Given the description of an element on the screen output the (x, y) to click on. 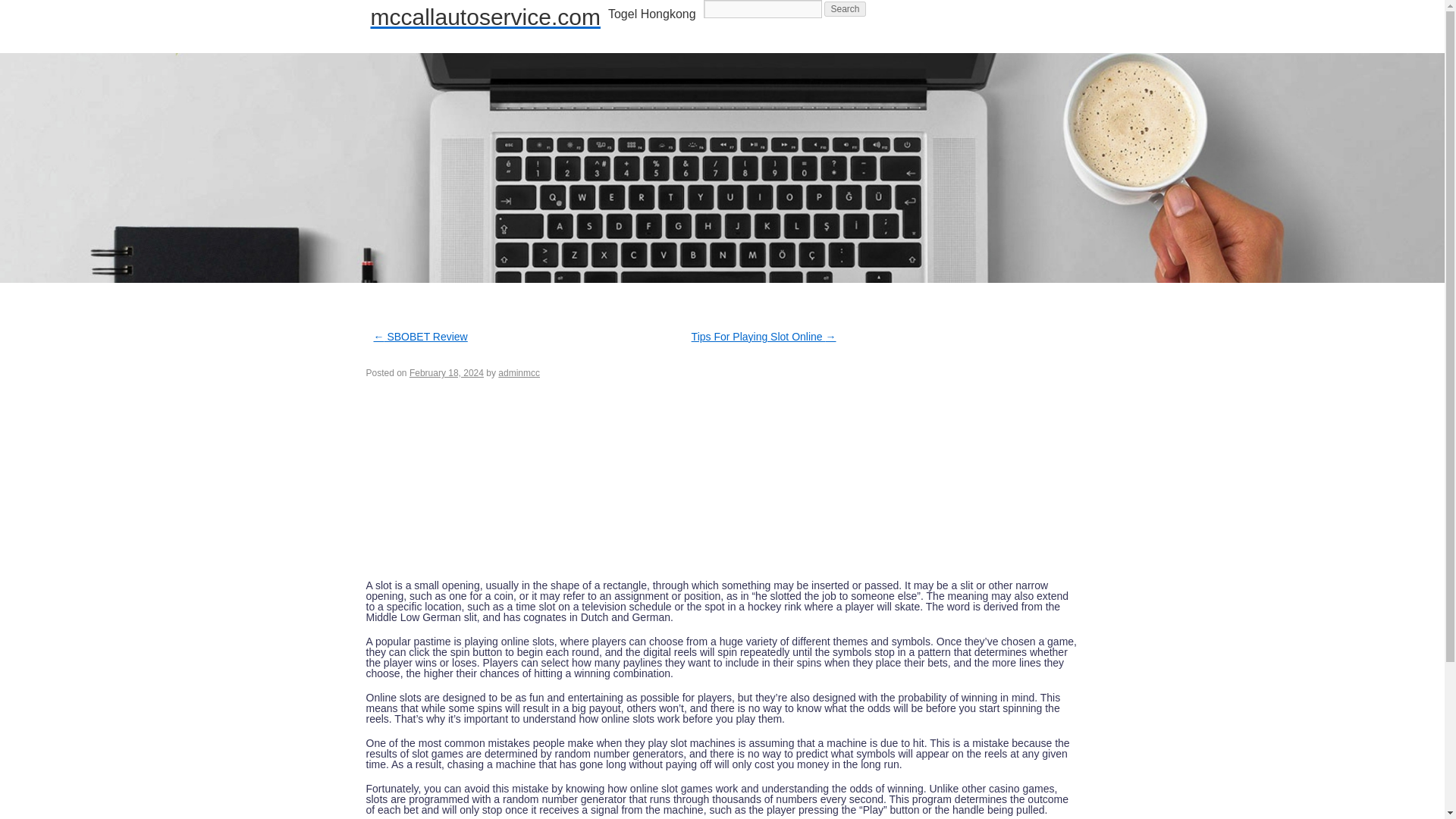
Search (844, 8)
February 18, 2024 (446, 372)
7:47 pm (446, 372)
View all posts by adminmcc (518, 372)
Search (844, 8)
adminmcc (518, 372)
mccallautoservice.com (484, 16)
Togel Hongkong (651, 14)
